Given the description of an element on the screen output the (x, y) to click on. 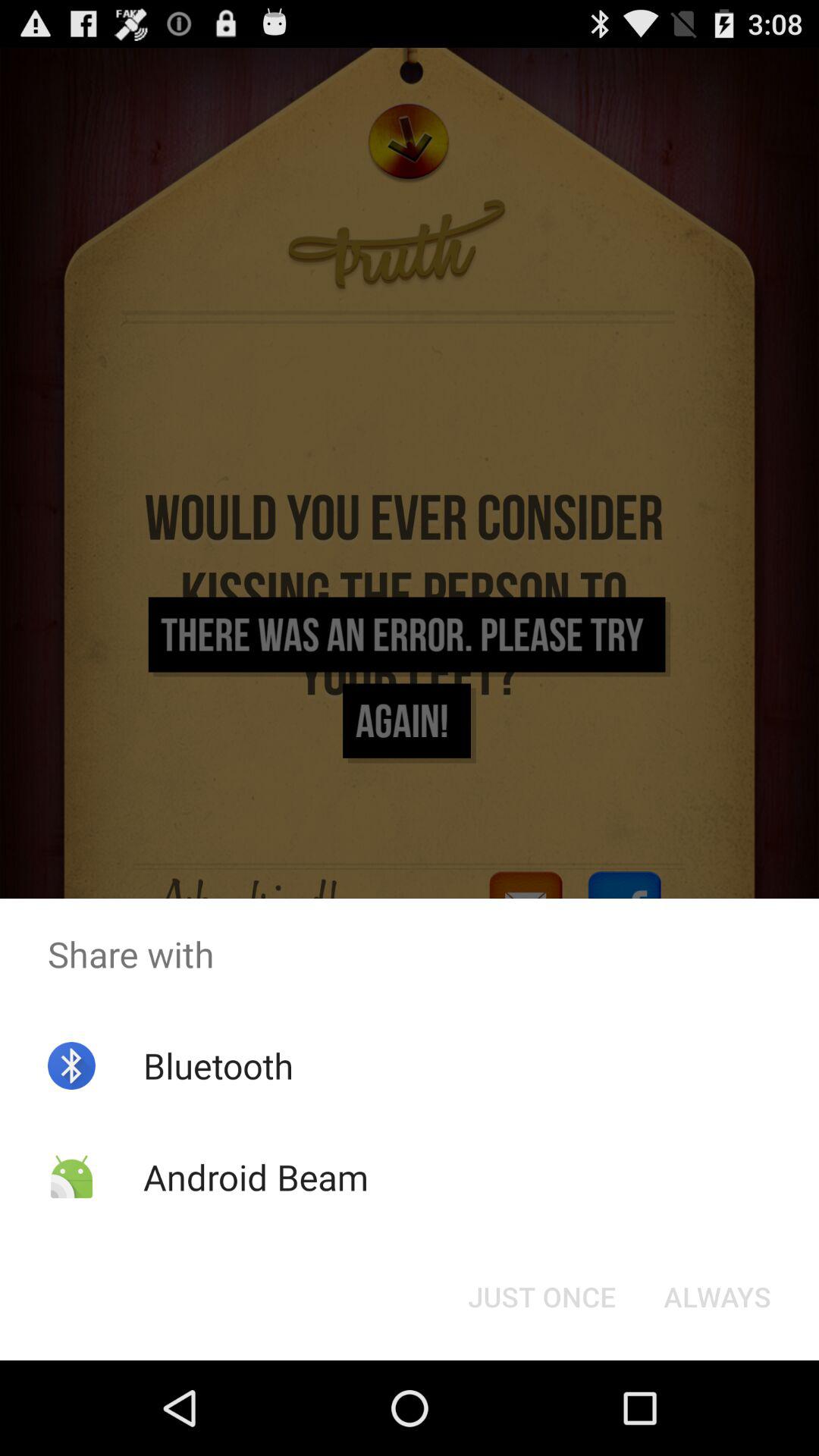
swipe until the just once icon (541, 1296)
